Given the description of an element on the screen output the (x, y) to click on. 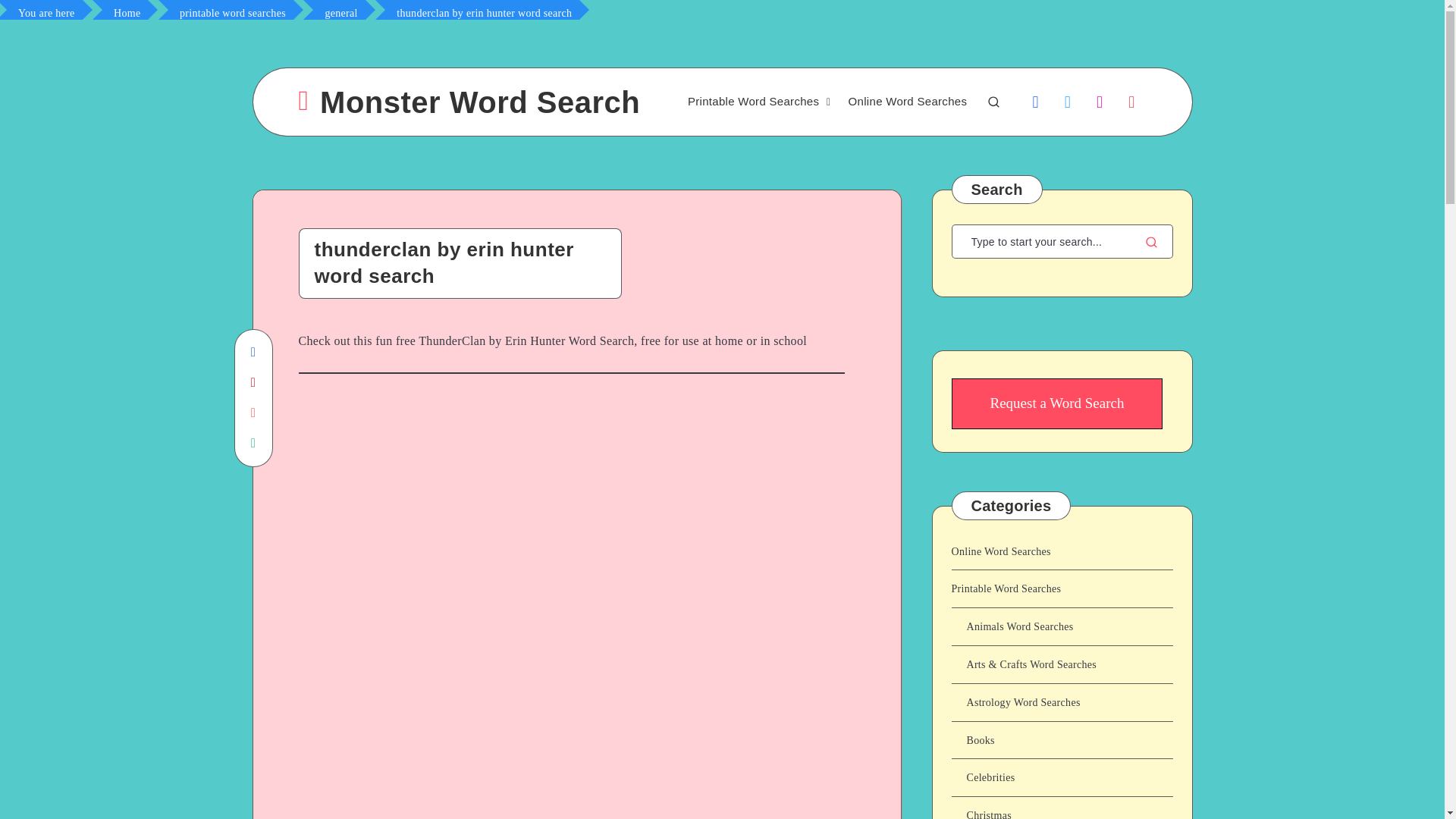
Home (127, 9)
thunderclan by erin hunter word search (483, 9)
Home (127, 9)
Printable Word Searches (752, 101)
printable word searches (232, 9)
You are here (46, 9)
general (341, 9)
You are here (46, 9)
general (341, 9)
printable word searches (232, 9)
